Given the description of an element on the screen output the (x, y) to click on. 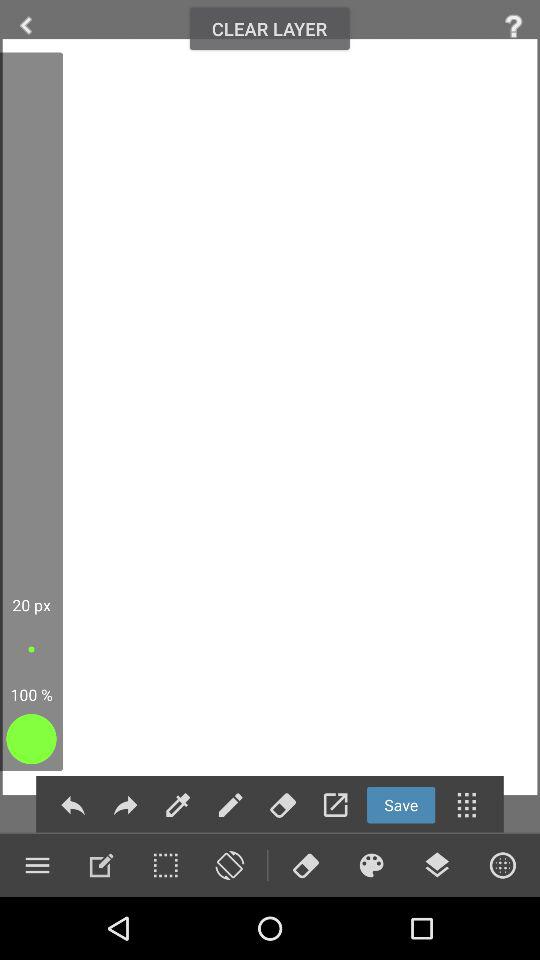
editing (230, 804)
